Given the description of an element on the screen output the (x, y) to click on. 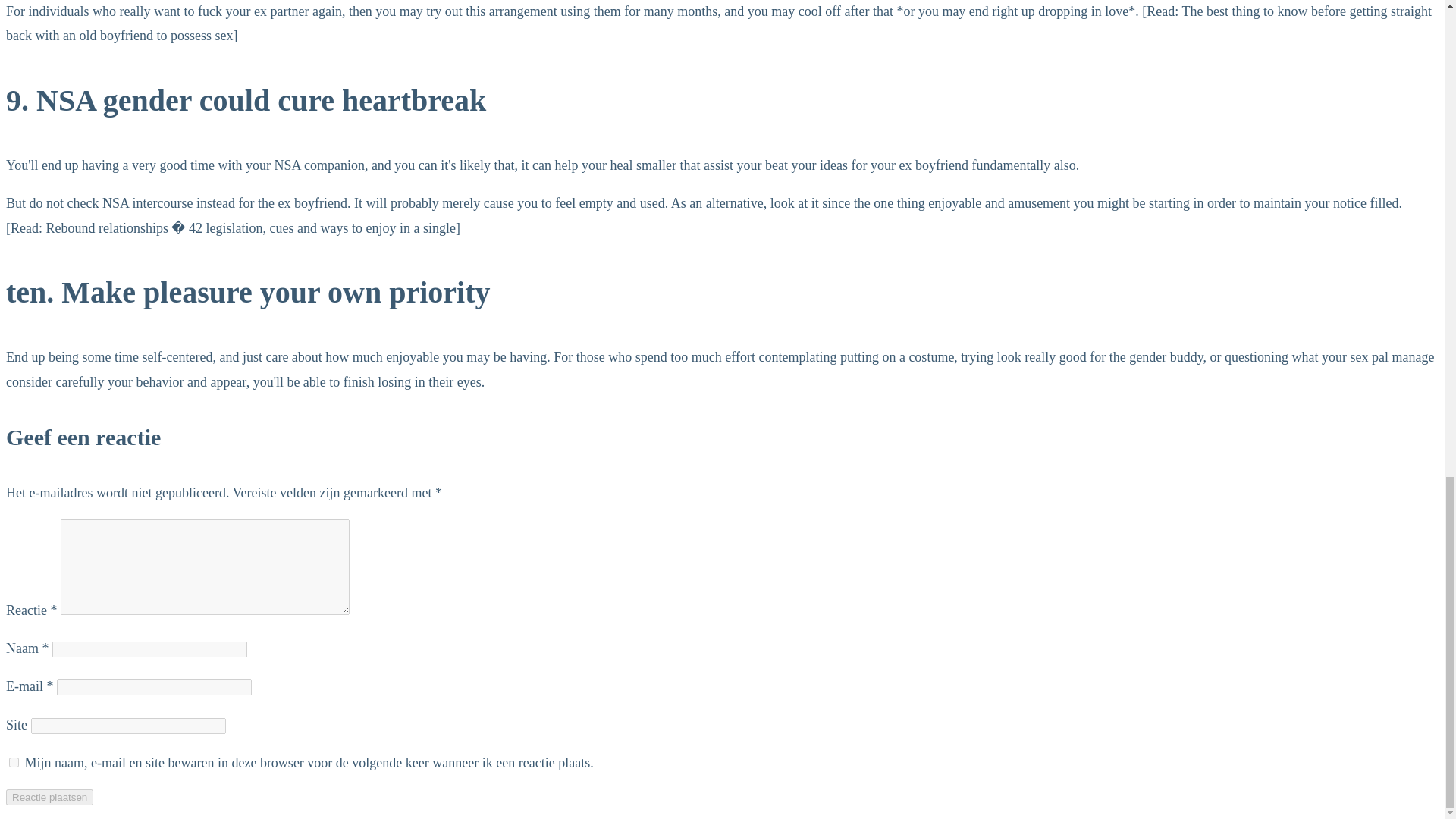
yes (13, 762)
Reactie plaatsen (49, 797)
Reactie plaatsen (49, 797)
